Given the description of an element on the screen output the (x, y) to click on. 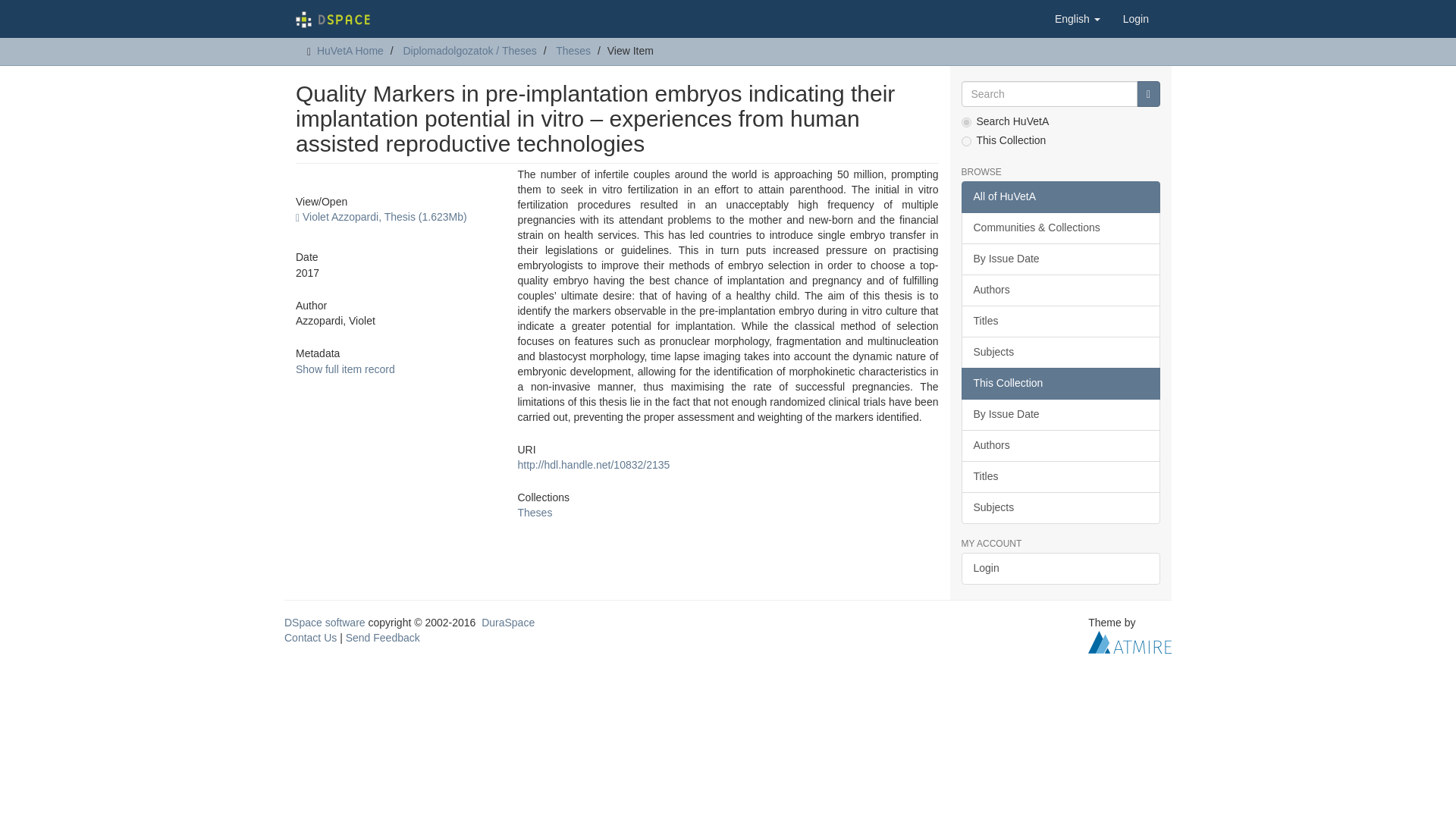
Show full item record (344, 368)
By Issue Date (1060, 259)
Titles (1060, 321)
HuVetA Home (350, 50)
By Issue Date (1060, 414)
This Collection (1060, 383)
Theses (533, 512)
Login (1136, 18)
Atmire NV (1129, 641)
Go (1148, 94)
